Given the description of an element on the screen output the (x, y) to click on. 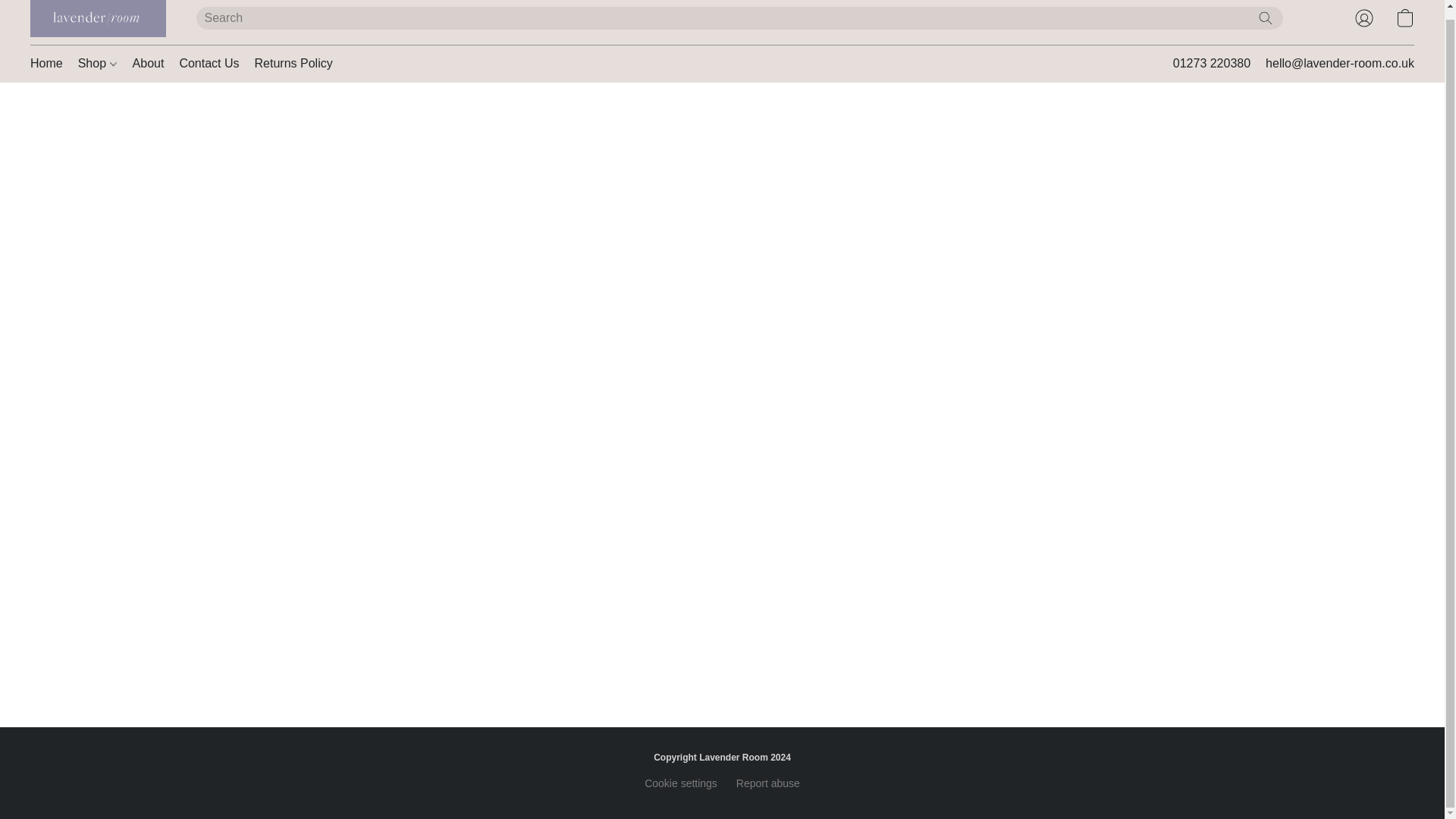
Report abuse (767, 782)
About (148, 63)
Returns Policy (290, 63)
Shop (97, 63)
Contact Us (208, 63)
Go to your shopping cart (1404, 18)
01273 220380 (1211, 63)
Home (49, 63)
